Given the description of an element on the screen output the (x, y) to click on. 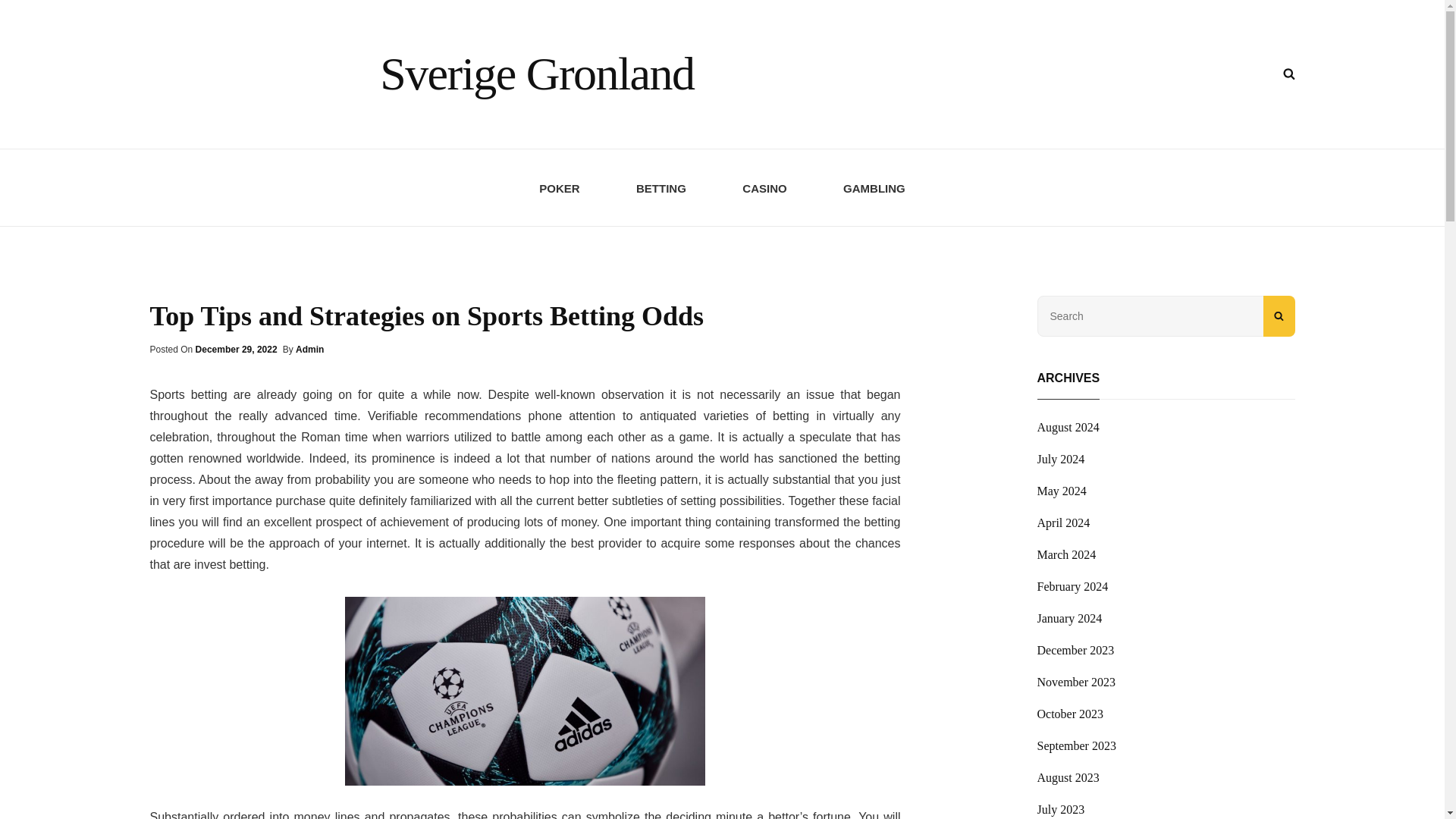
December 29, 2022 (236, 348)
April 2024 (1063, 523)
January 2024 (1069, 618)
May 2024 (1061, 491)
August 2024 (1067, 427)
February 2024 (1072, 586)
December 2023 (1075, 650)
October 2023 (1069, 713)
Sverige Gronland (537, 73)
March 2024 (1066, 554)
